Given the description of an element on the screen output the (x, y) to click on. 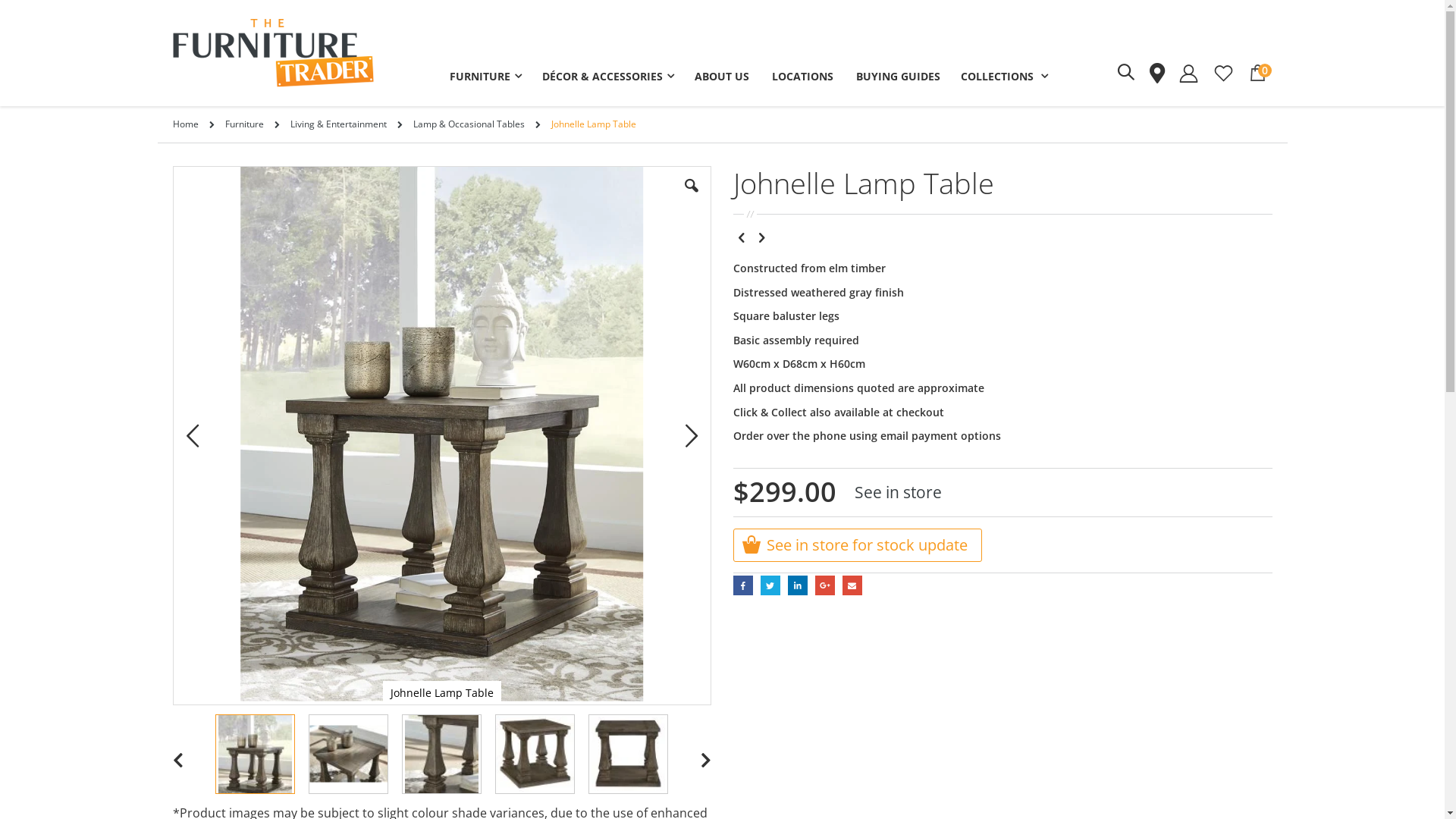
See Next Element type: hover (761, 236)
0
items Element type: text (1257, 72)
Furniture Element type: text (243, 124)
Skip to the end of the images gallery Element type: text (171, 165)
Twitter Element type: text (770, 585)
See Previous Element type: hover (741, 236)
My Wish List Element type: hover (1223, 72)
LinkedIn Element type: text (797, 585)
LOCATIONS Element type: text (802, 81)
ABOUT US Element type: text (721, 81)
Living & Entertainment Element type: text (337, 124)
See in store for stock update Element type: text (857, 544)
Home Element type: text (185, 124)
FURNITURE Element type: text (484, 81)
Email Element type: text (852, 585)
BUYING GUIDES Element type: text (897, 81)
The Furniture Trader Element type: hover (272, 52)
Facebook Element type: text (743, 585)
COLLECTIONS Element type: text (1003, 81)
Lamp & Occasional Tables Element type: text (468, 124)
Google + Element type: text (824, 585)
